Given the description of an element on the screen output the (x, y) to click on. 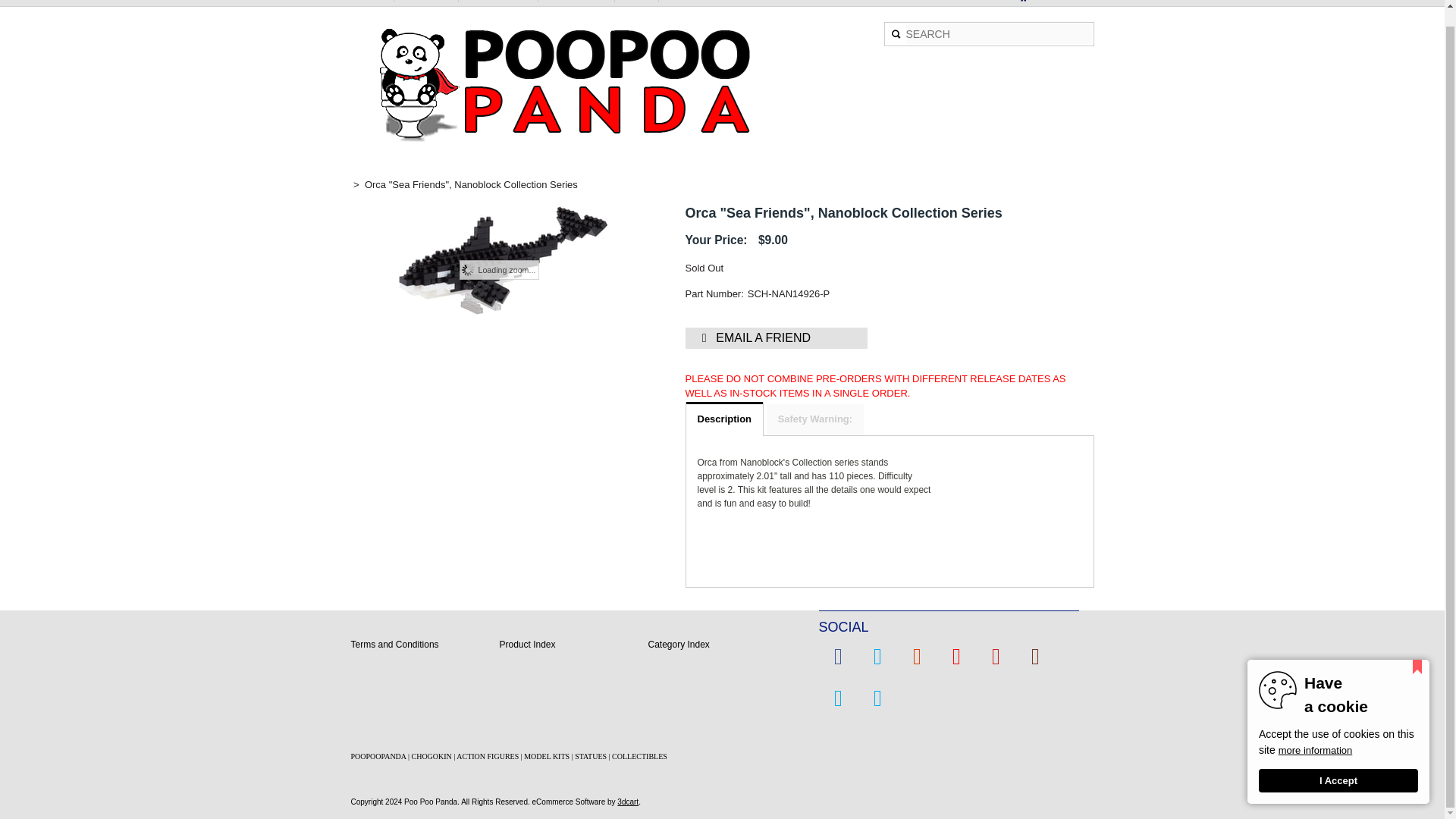
Follow Us on Tumblr (837, 697)
Follow Us on Instagram (1035, 656)
Follow Us on Twitter (877, 656)
Subscribe to our Blog (877, 697)
Subscribe to Our Channel (956, 656)
Follow Us on Pinterest (995, 656)
Like Us on Facebook (837, 656)
